Given the description of an element on the screen output the (x, y) to click on. 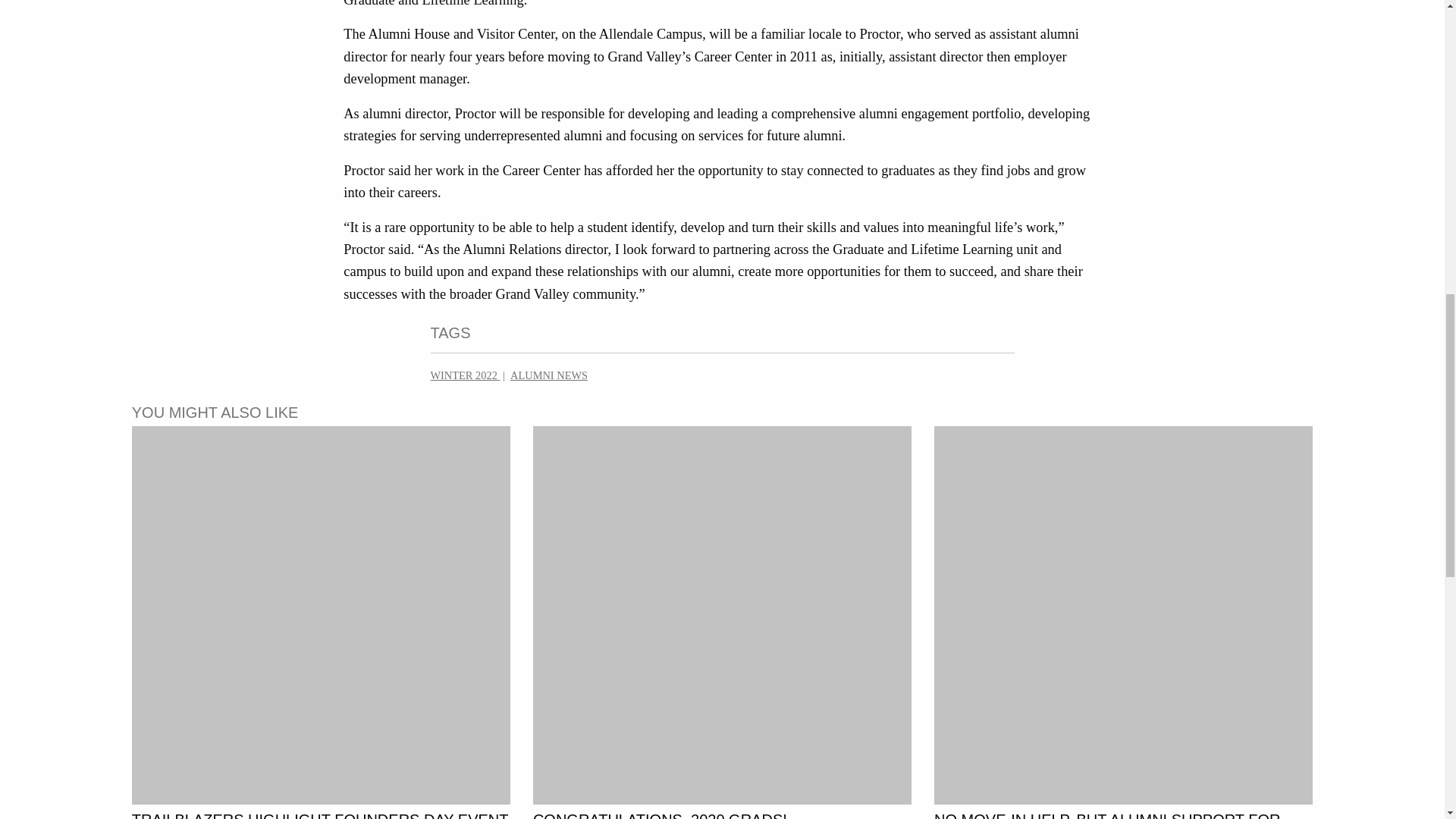
ALUMNI NEWS (549, 375)
CONGRATULATIONS, 2020 GRADS! (659, 815)
TRAILBLAZERS HIGHLIGHT FOUNDERS DAY EVENT (320, 815)
NO MOVE-IN HELP, BUT ALUMNI SUPPORT FOR STUDENTS CONTINUES (1106, 815)
WINTER 2022 (465, 375)
